Given the description of an element on the screen output the (x, y) to click on. 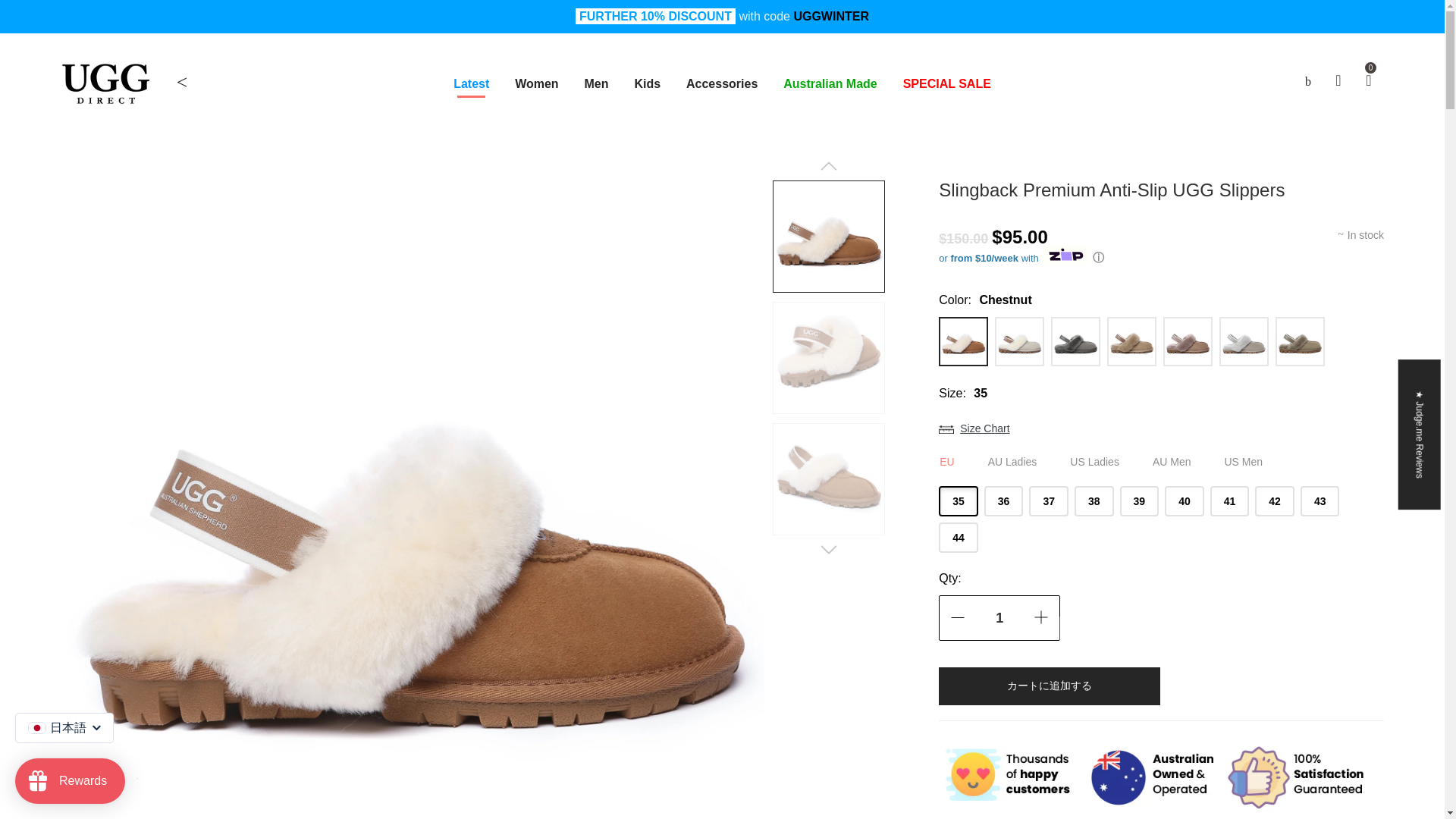
Grey (1075, 341)
Goat Grey (1244, 341)
Caribou (1299, 341)
Brown (1131, 341)
Qty (999, 617)
Chestnut (963, 341)
Men (595, 83)
Dawn Pink (1187, 341)
Latest (470, 83)
1 (999, 617)
Sand (1018, 341)
Women (536, 83)
